Given the description of an element on the screen output the (x, y) to click on. 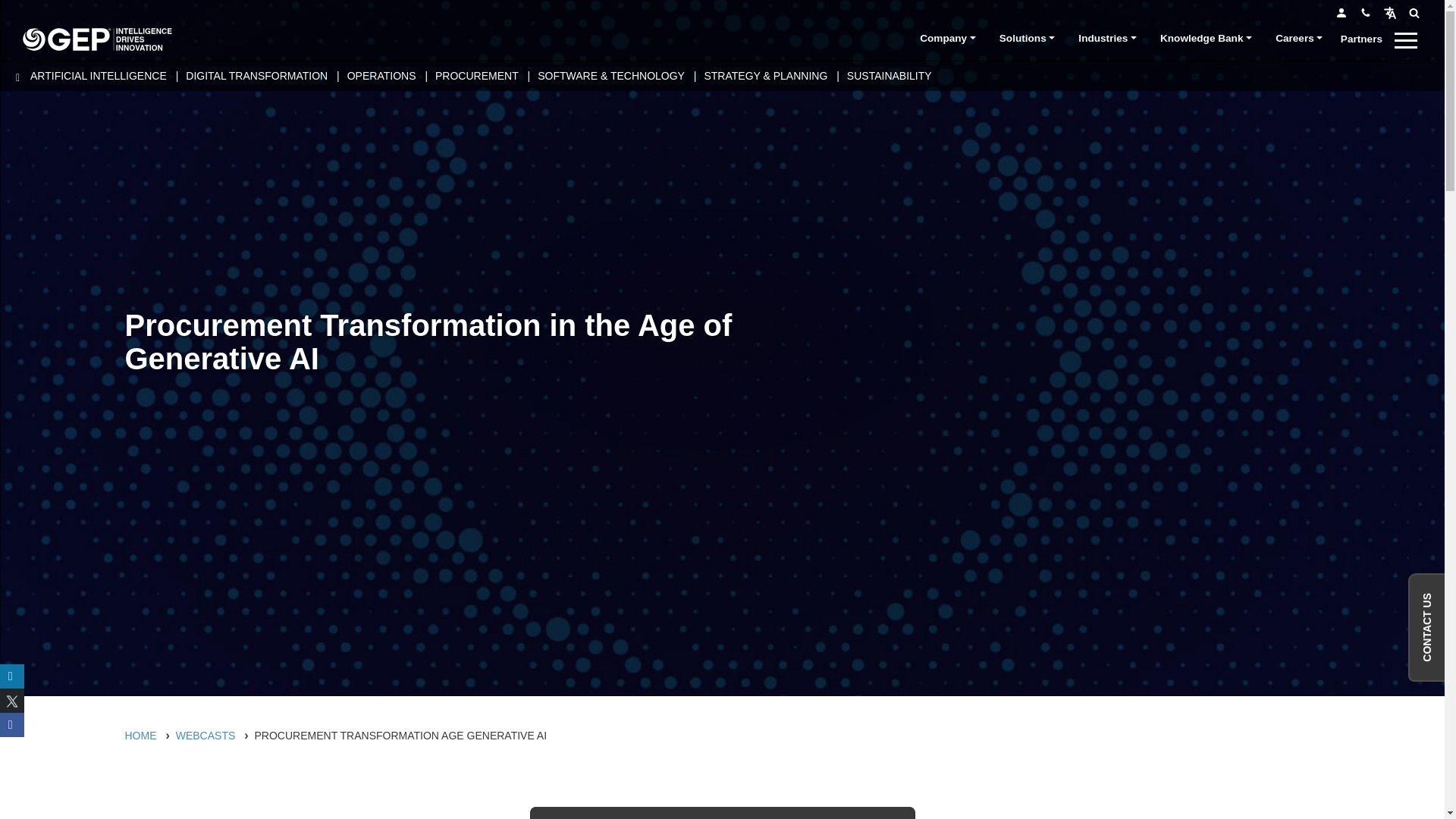
Home (97, 39)
Language (1389, 11)
Company (947, 39)
Solutions (1026, 39)
